Given the description of an element on the screen output the (x, y) to click on. 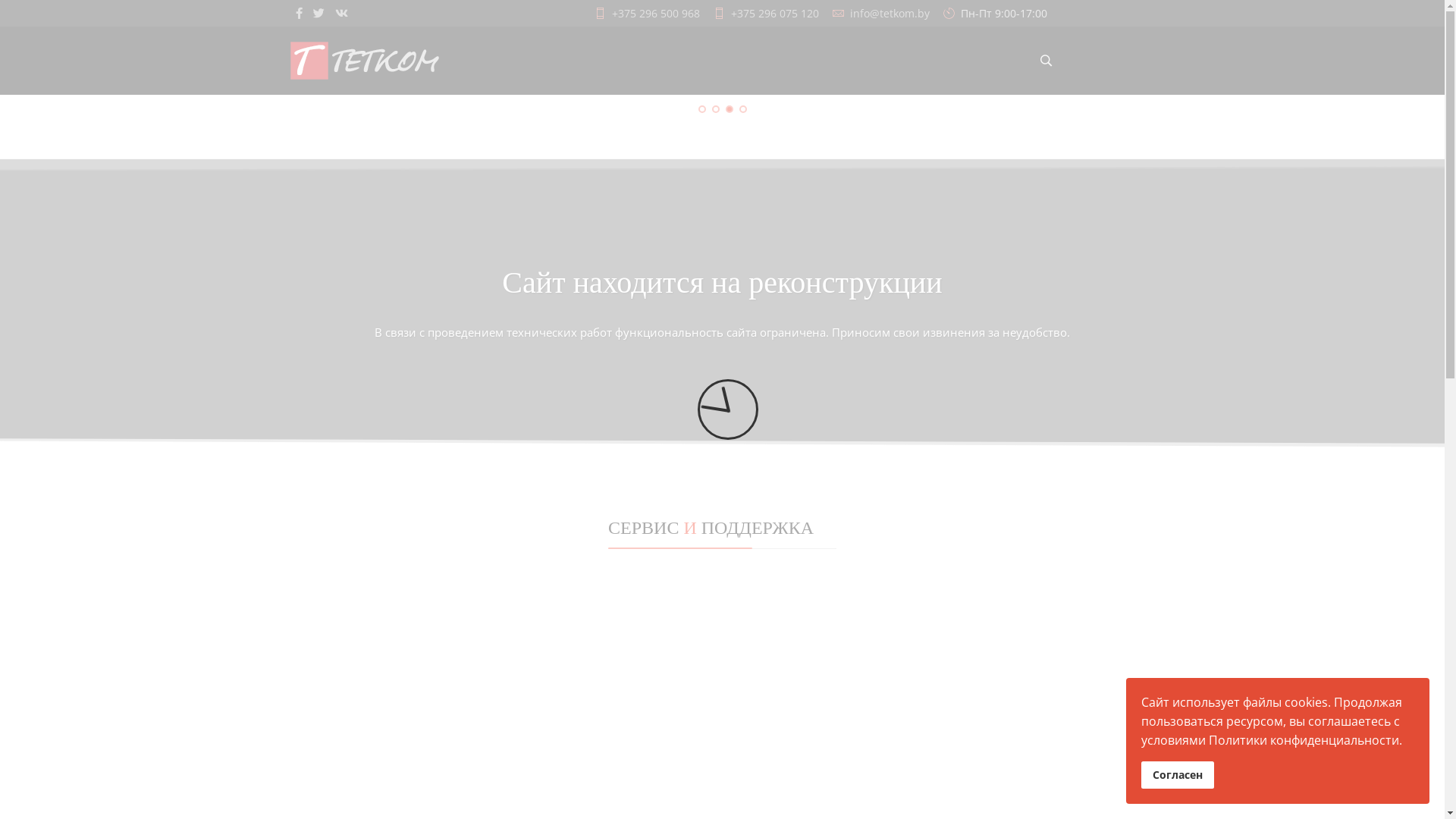
+375 296 075 120 Element type: text (775, 13)
info@tetkom.by Element type: text (888, 13)
+375 296 500 968 Element type: text (655, 13)
